Given the description of an element on the screen output the (x, y) to click on. 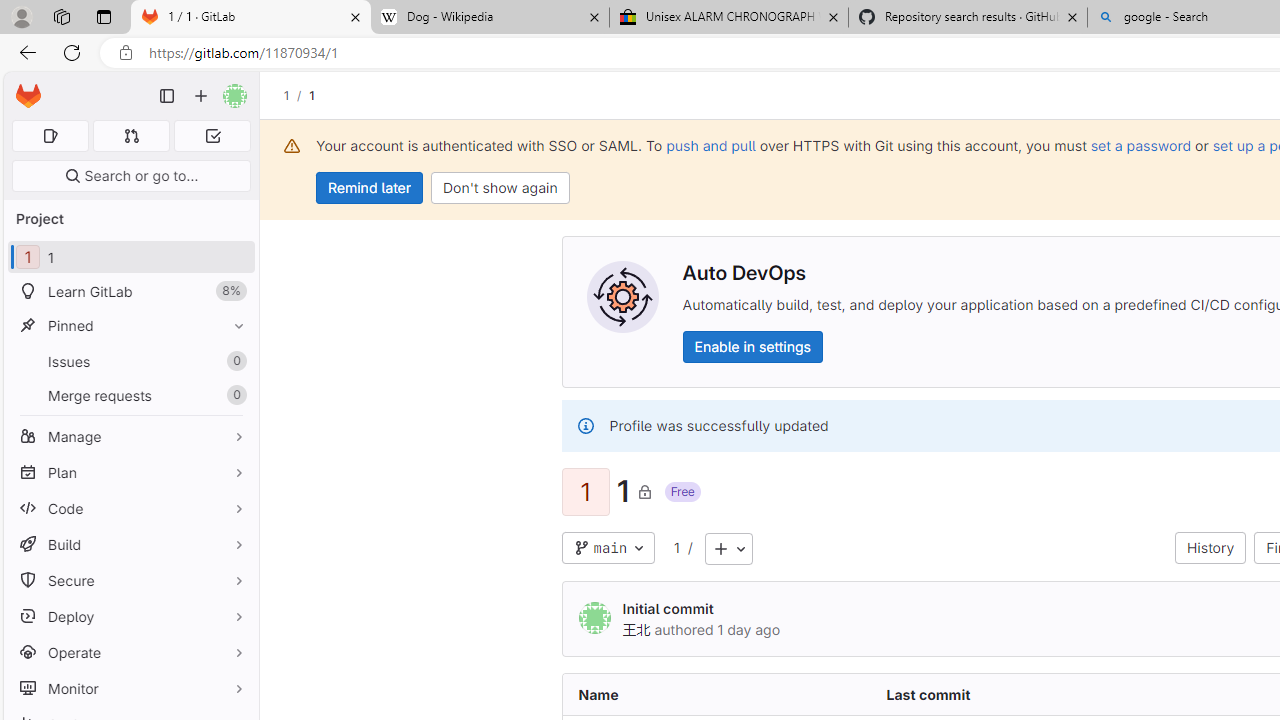
Unpin Issues (234, 361)
Secure (130, 579)
Pinned (130, 325)
Code (130, 507)
